Given the description of an element on the screen output the (x, y) to click on. 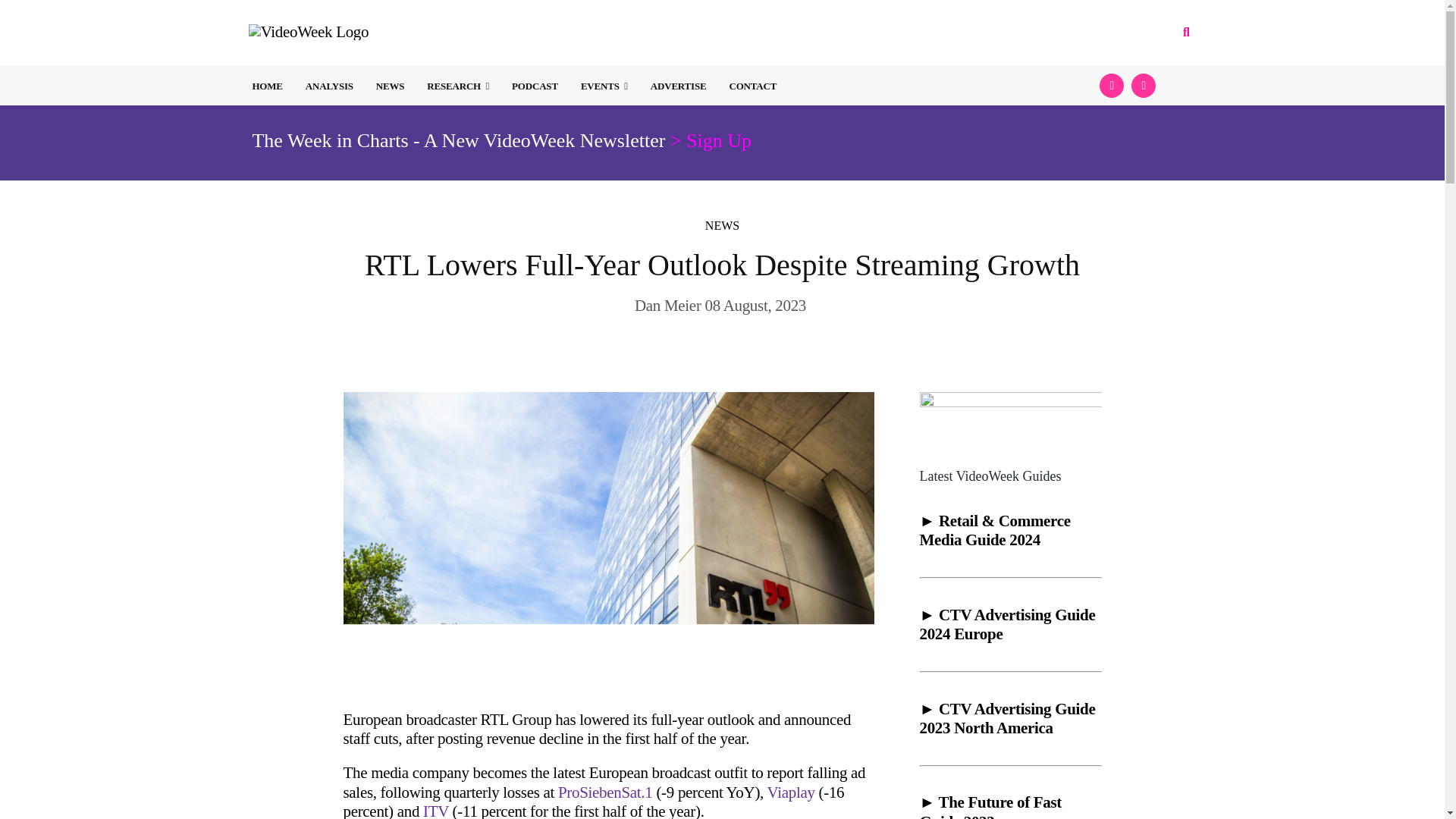
X (1111, 85)
ANALYSIS (329, 85)
LinkedIn (1143, 85)
RESEARCH (457, 85)
